Given the description of an element on the screen output the (x, y) to click on. 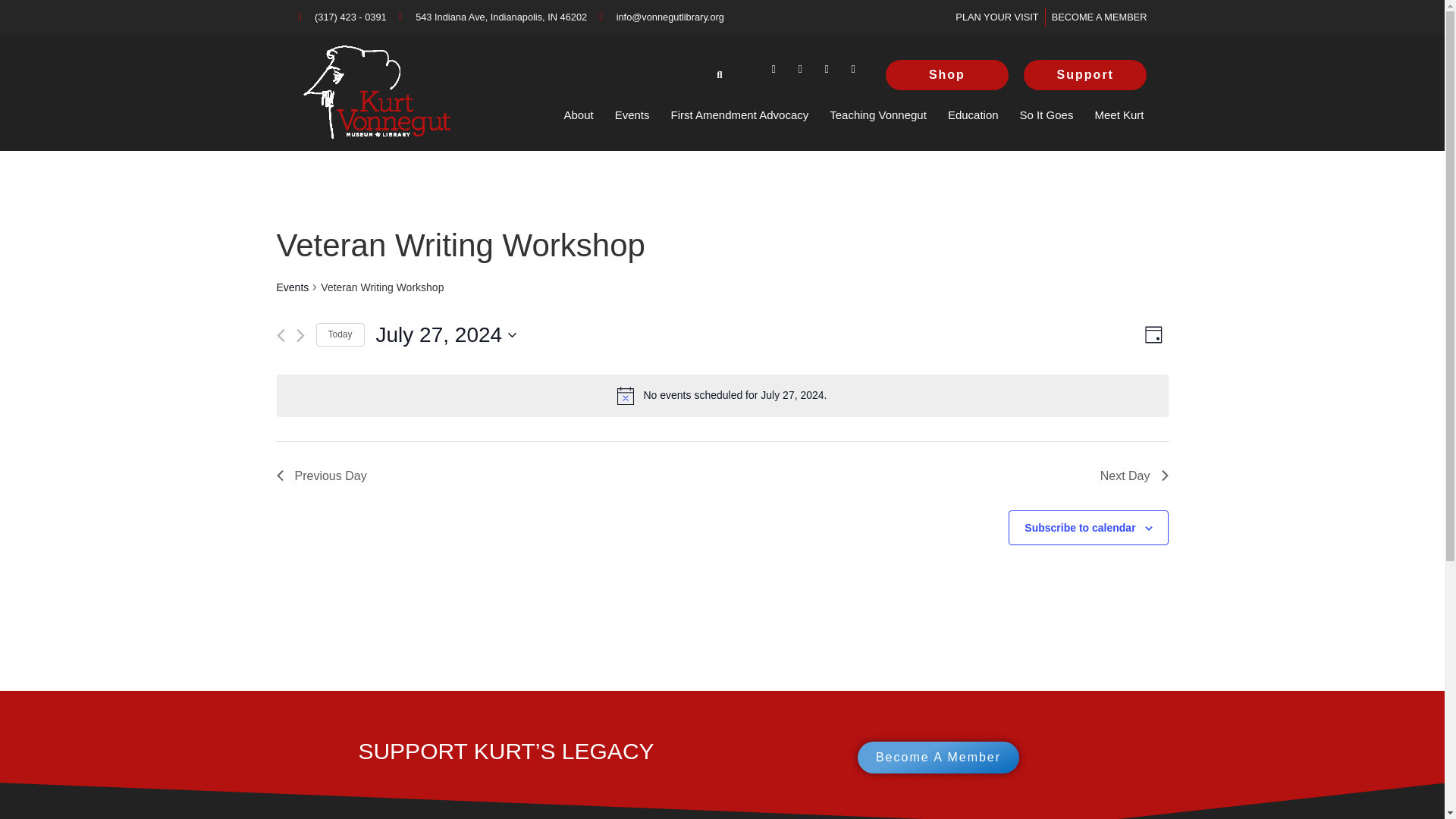
PLAN YOUR VISIT (996, 16)
Events (632, 114)
Support (1085, 74)
First Amendment Advocacy (738, 114)
Shop (947, 74)
Meet Kurt (1118, 114)
Click to select today's date (339, 334)
543 Indiana Ave, Indianapolis, IN 46202 (493, 16)
About (578, 114)
BECOME A MEMBER (1099, 16)
Click to toggle datepicker (445, 335)
Next Day (1134, 476)
Teaching Vonnegut (877, 114)
Education (973, 114)
Previous Day (321, 476)
